Given the description of an element on the screen output the (x, y) to click on. 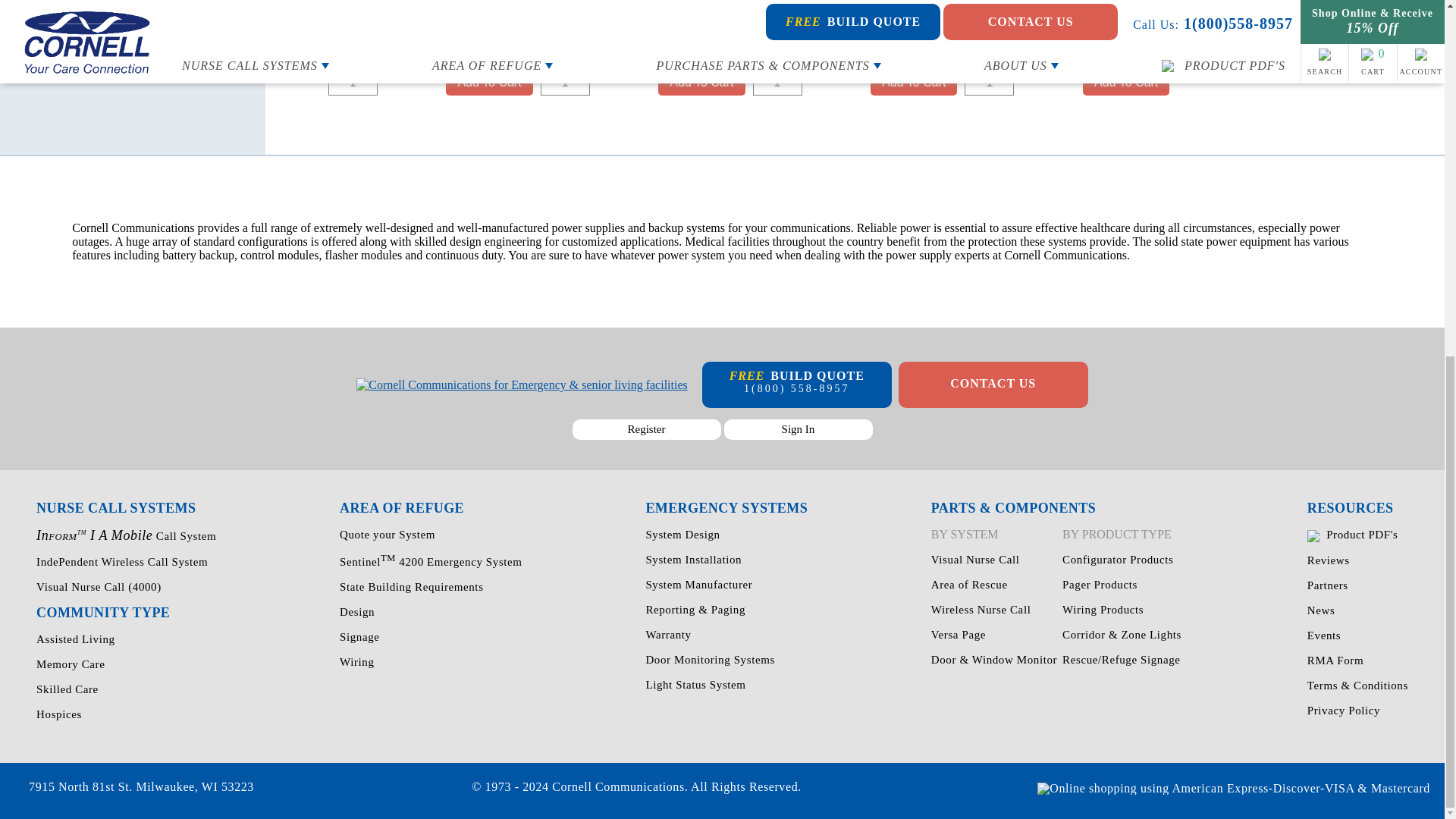
1 (988, 81)
1 (353, 81)
1 (777, 81)
Add To Cart (913, 81)
Add To Cart (701, 81)
Add To Cart (1126, 81)
1 (564, 81)
Add To Cart (488, 81)
